Given the description of an element on the screen output the (x, y) to click on. 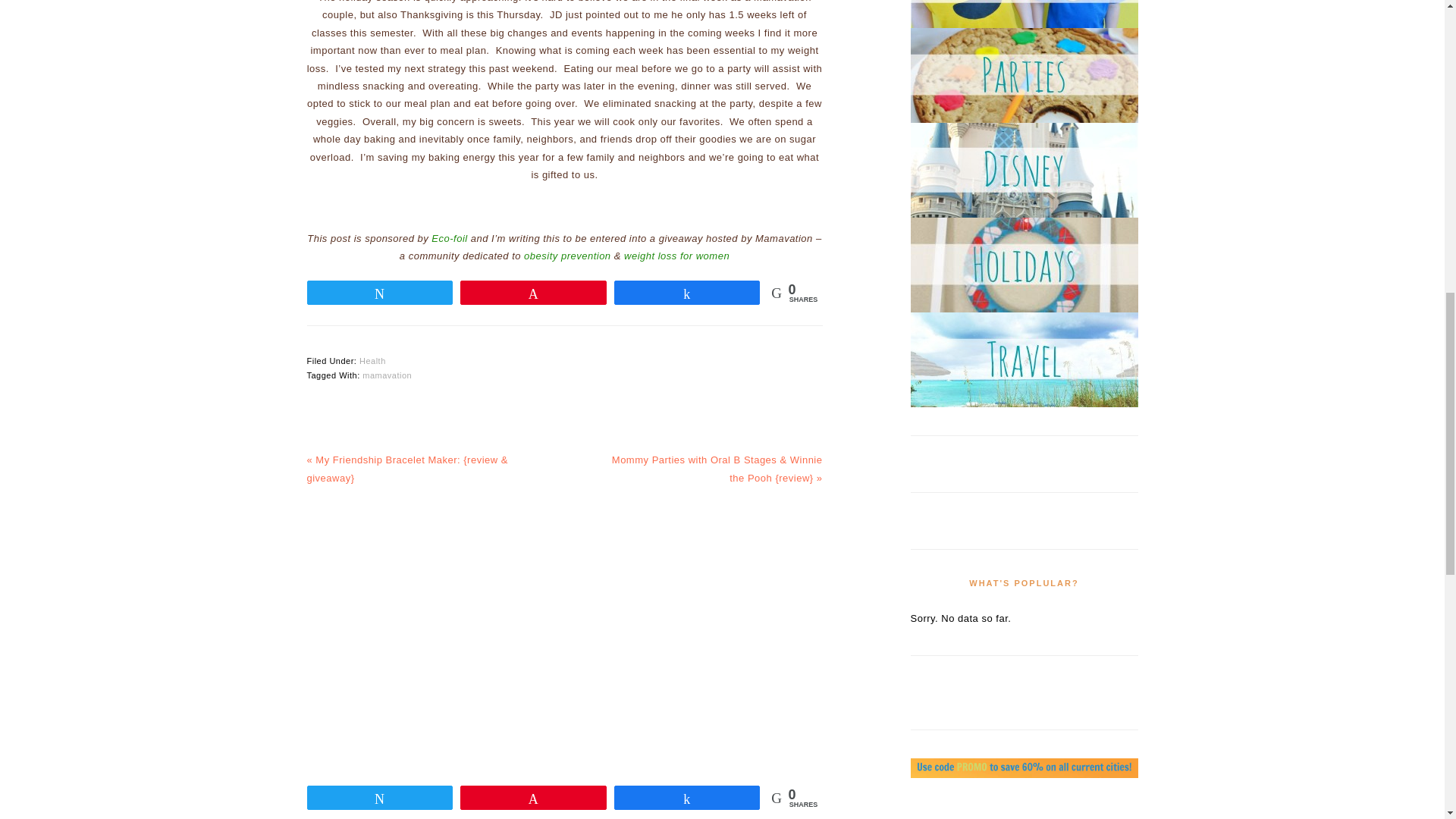
obesity prevention (567, 255)
Health (372, 360)
weight loss for women (676, 255)
Eco-foil  (450, 238)
mamavation (387, 375)
